Given the description of an element on the screen output the (x, y) to click on. 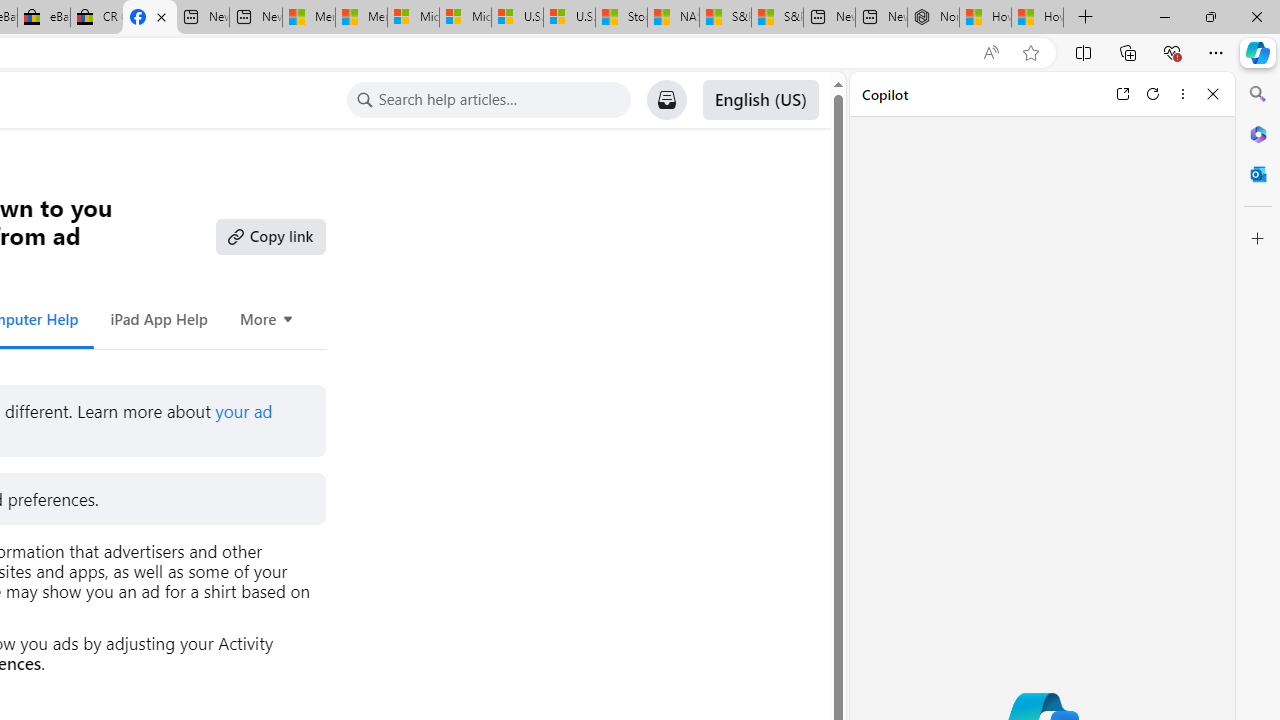
Open link in new tab (1122, 93)
S&P 500, Nasdaq end lower, weighed by Nvidia dip | Watch (776, 17)
Outlook (1258, 174)
